Given the description of an element on the screen output the (x, y) to click on. 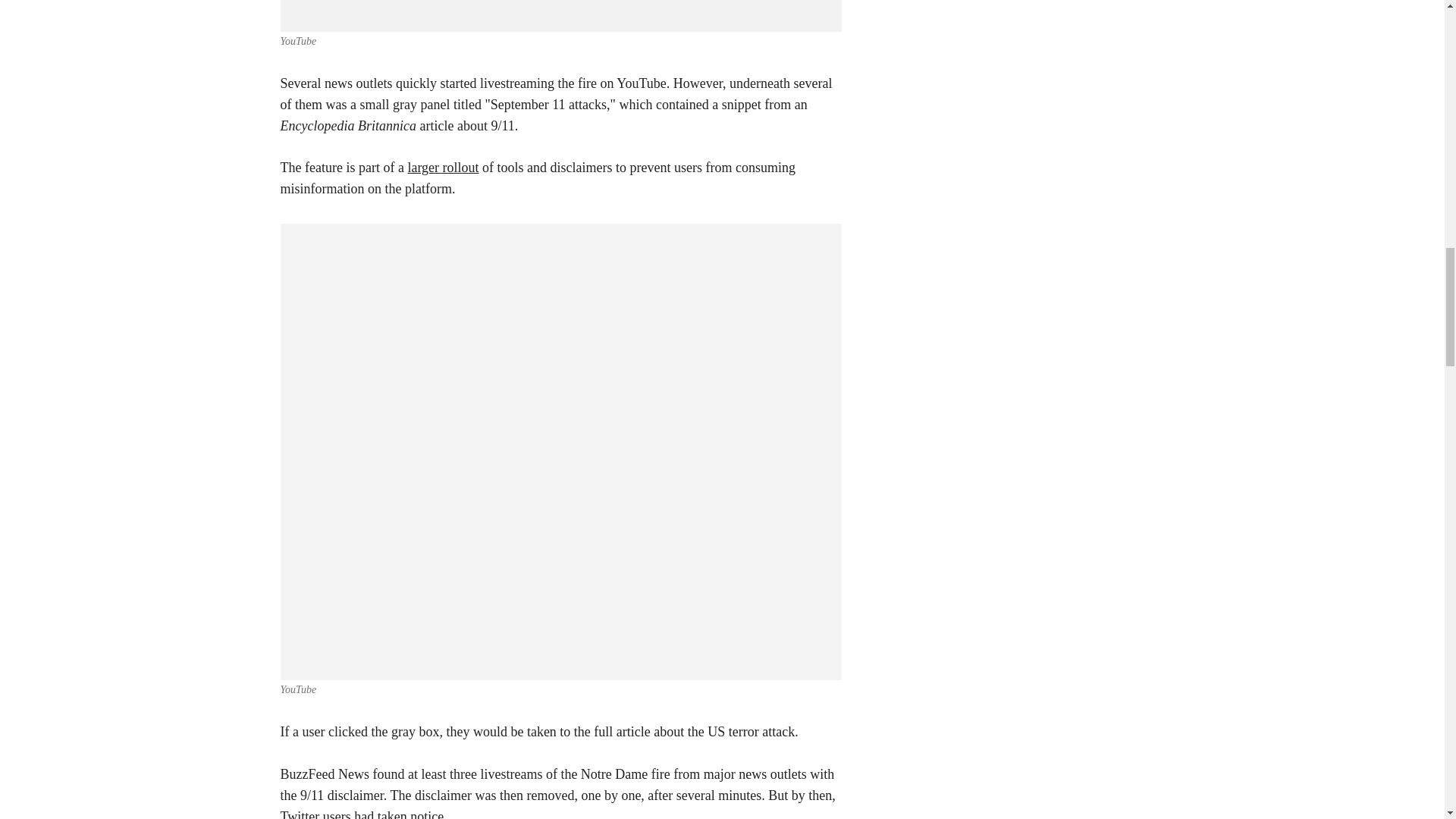
larger rollout (443, 167)
